Given the description of an element on the screen output the (x, y) to click on. 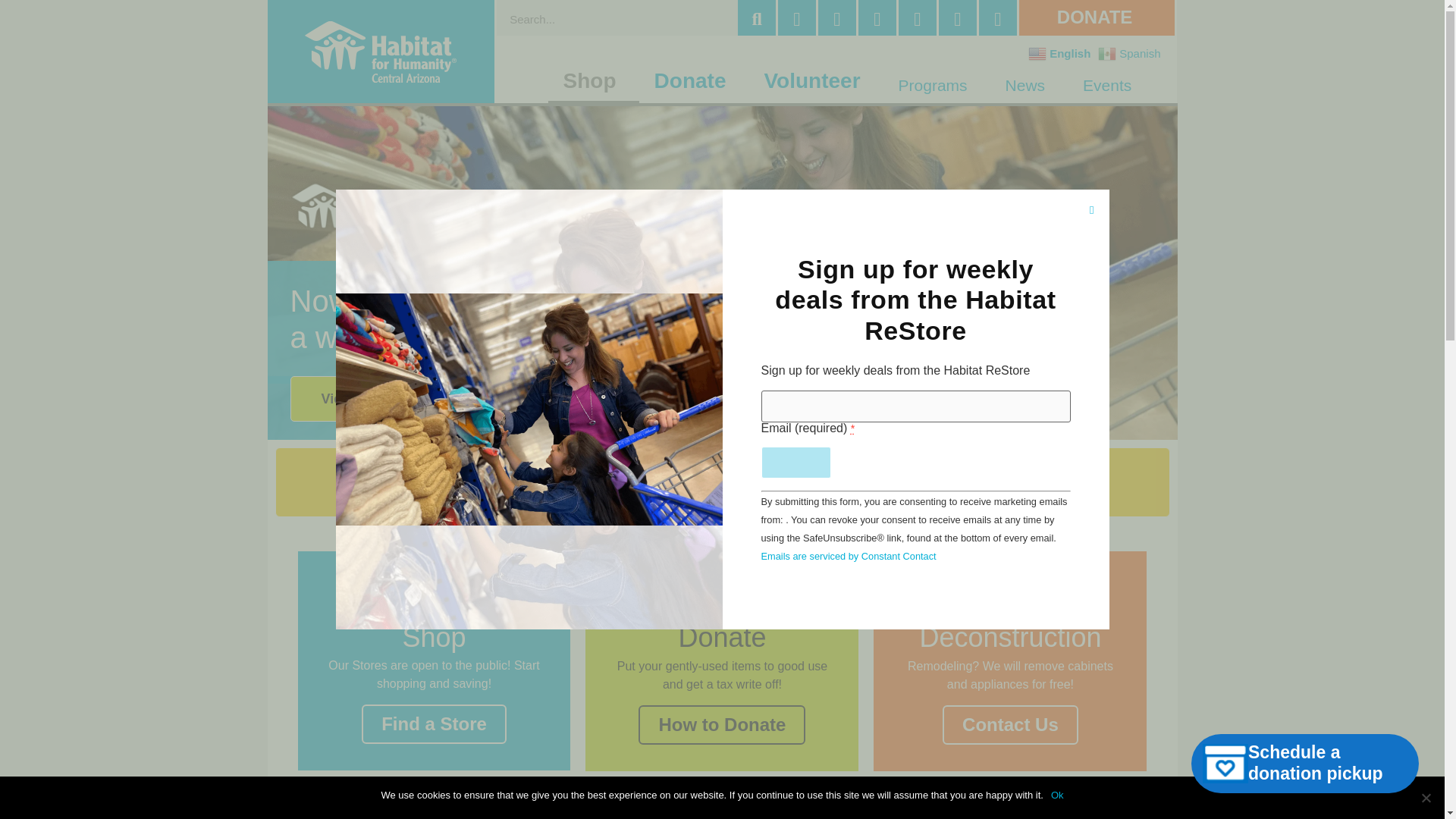
Volunteer (815, 81)
DONATE (1098, 17)
Sign up (796, 462)
English (1060, 51)
No (1425, 797)
Donate (694, 81)
Shop (593, 81)
Spanish (1130, 51)
